Given the description of an element on the screen output the (x, y) to click on. 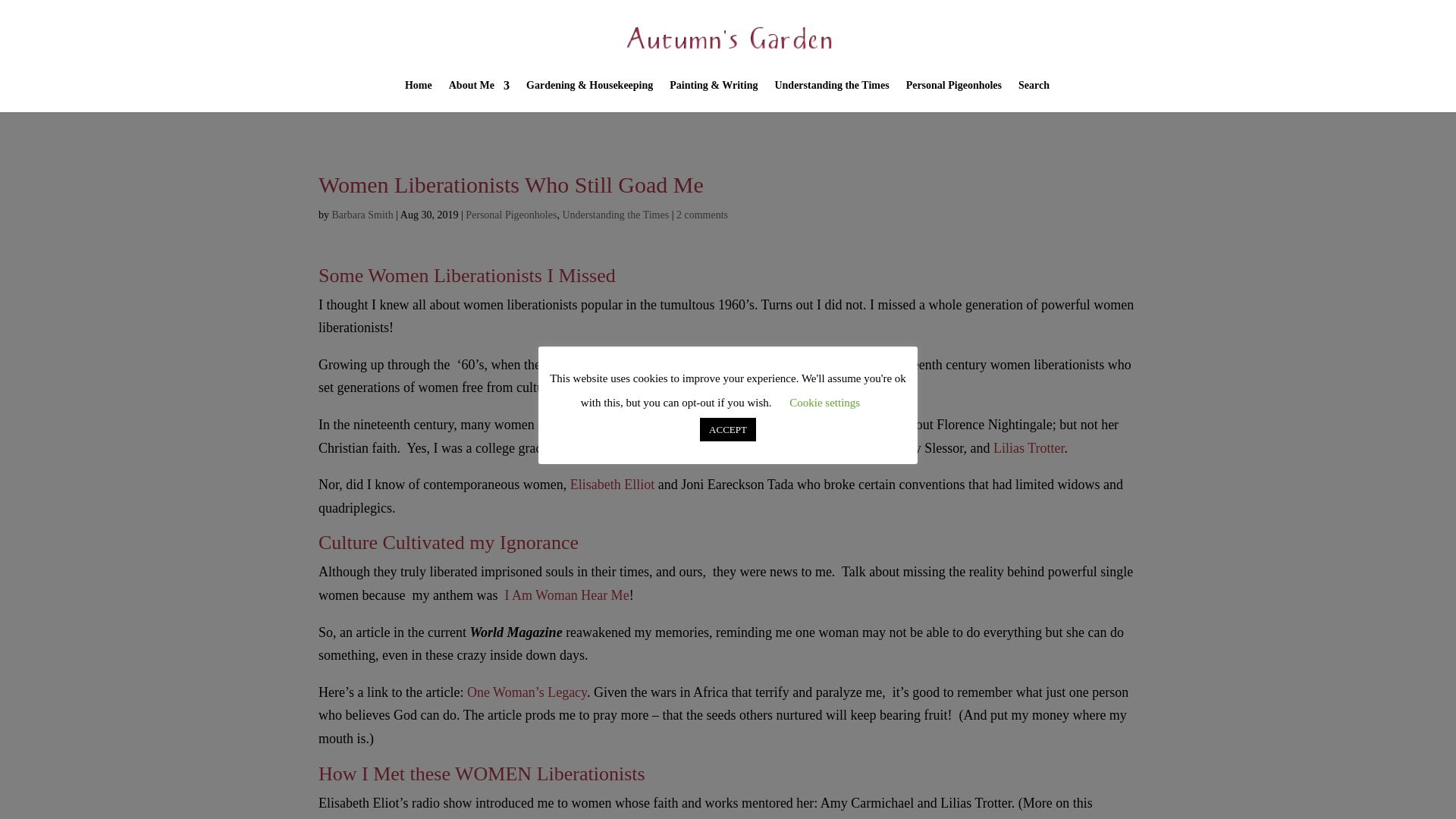
Personal Pigeonholes (953, 96)
Lilias Trotter (1028, 447)
Posts by Barbara Smith (362, 214)
Elisabeth Elliot (614, 484)
I Am Woman Hear Me (565, 595)
Barbara Smith (362, 214)
Personal Pigeonholes (510, 214)
2 comments (702, 214)
About Me (478, 96)
Search (1033, 96)
Understanding the Times (831, 96)
Understanding the Times (615, 214)
